Given the description of an element on the screen output the (x, y) to click on. 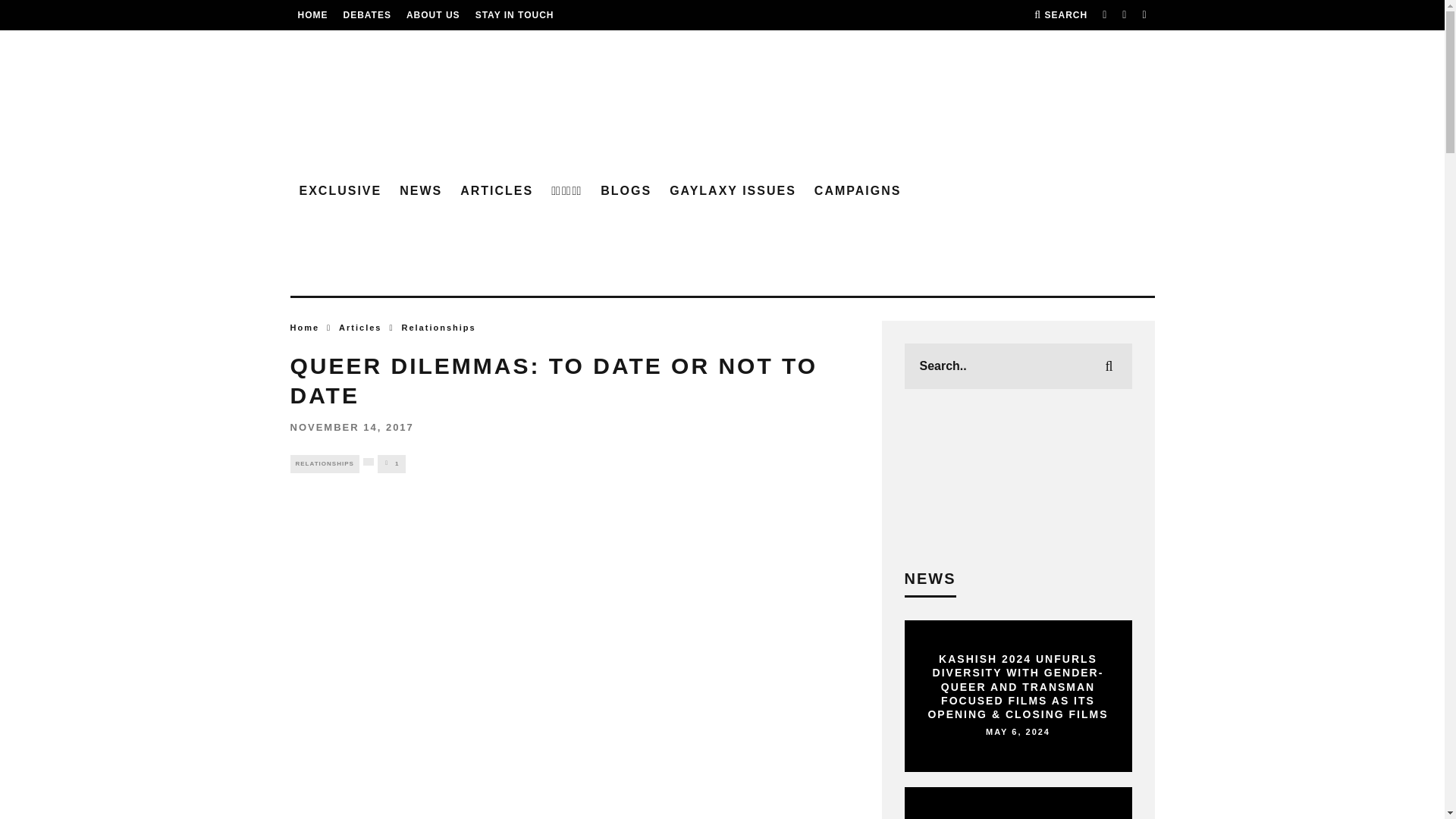
HOME (312, 15)
SEARCH (1060, 15)
DEBATES (366, 15)
View all posts in Relationships (438, 327)
View all posts in Relationships (323, 464)
View all posts in Articles (360, 327)
ABOUT US (433, 15)
Campaign (858, 191)
EXCLUSIVE (339, 191)
STAY IN TOUCH (515, 15)
